Given the description of an element on the screen output the (x, y) to click on. 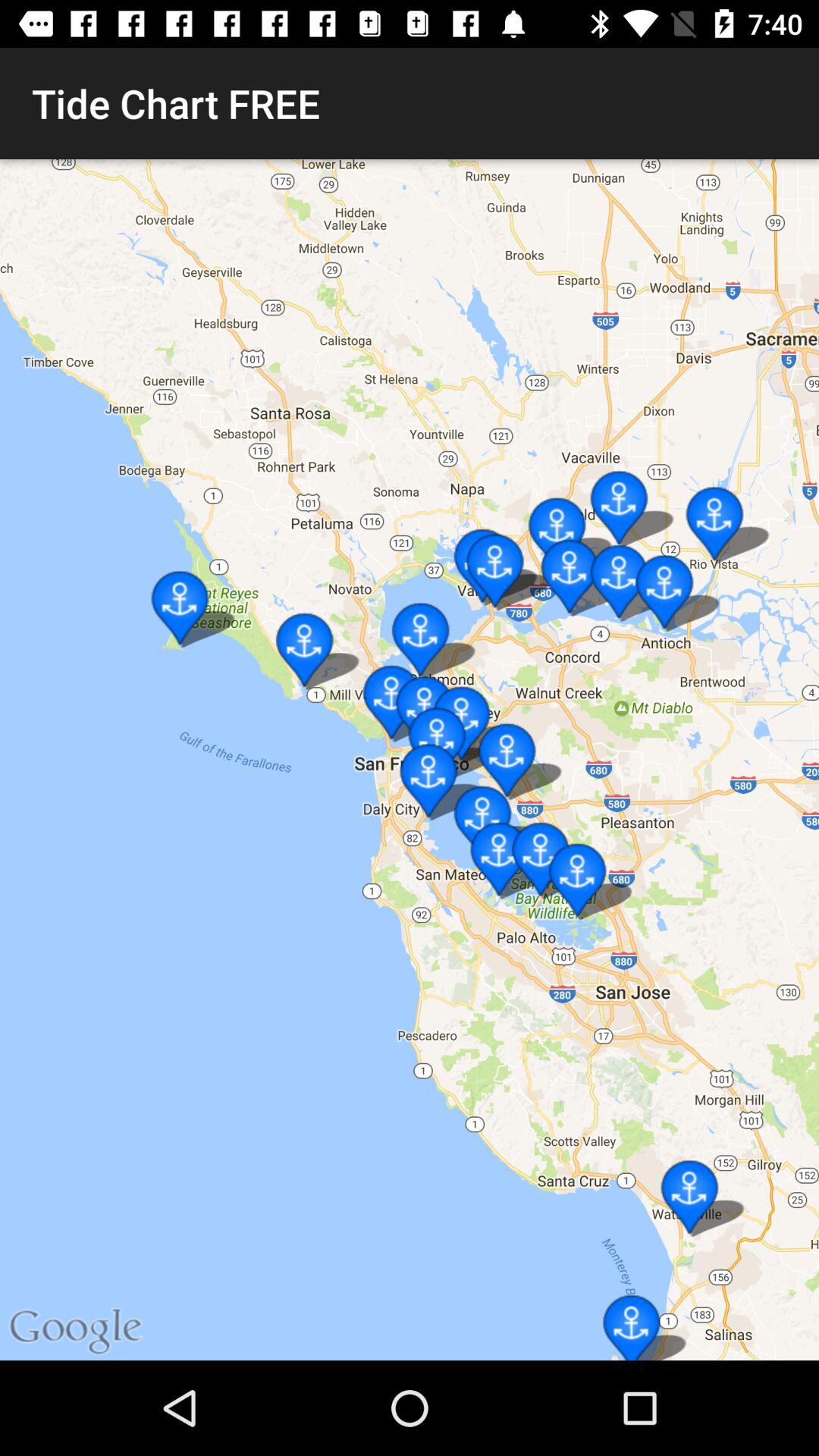
turn on the item below tide chart free (409, 759)
